Given the description of an element on the screen output the (x, y) to click on. 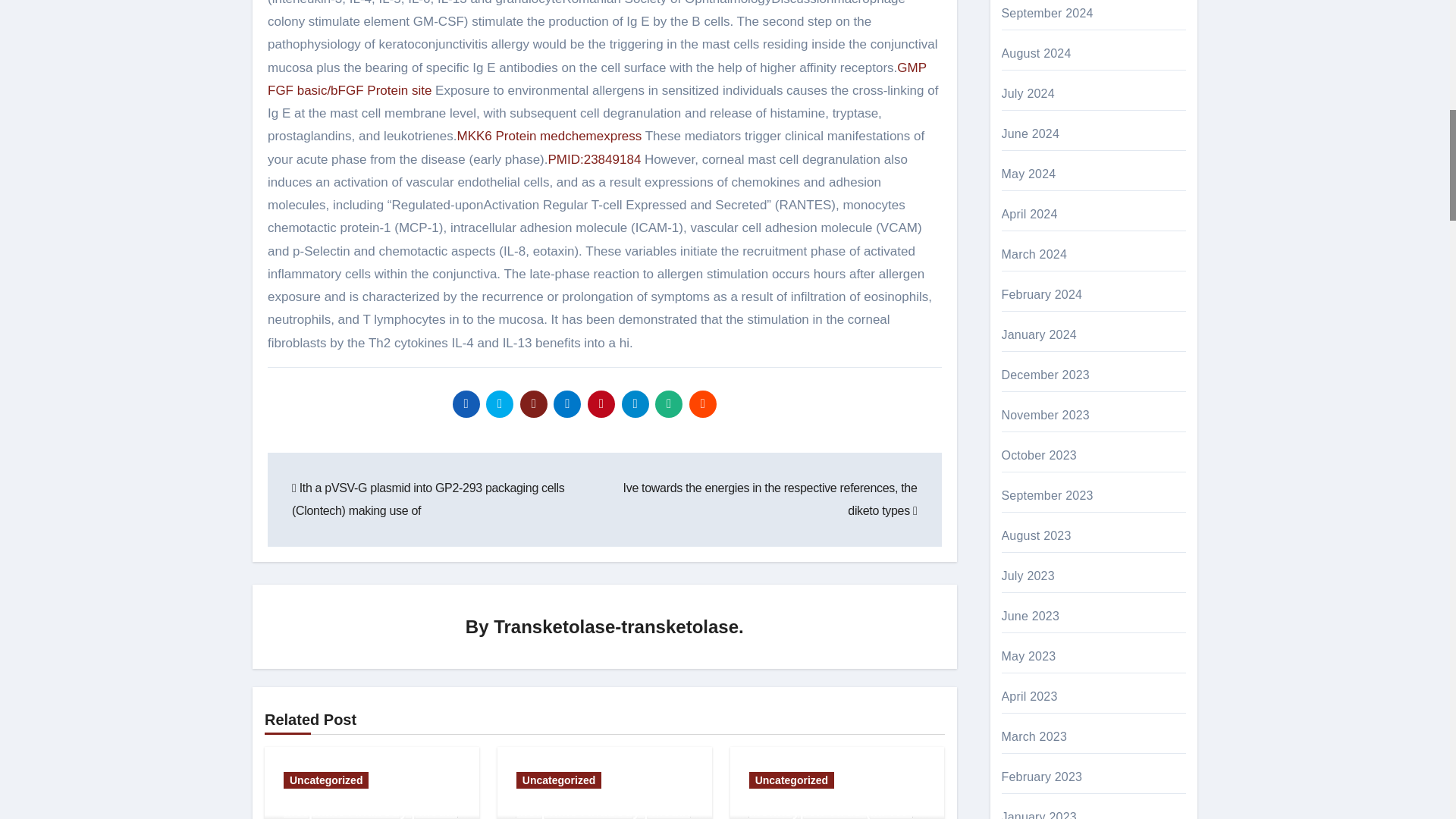
MKK6 Protein medchemexpress (549, 135)
PMID:23849184 (593, 159)
Transketolase-transketolase. (618, 626)
Uncategorized (325, 780)
